Given the description of an element on the screen output the (x, y) to click on. 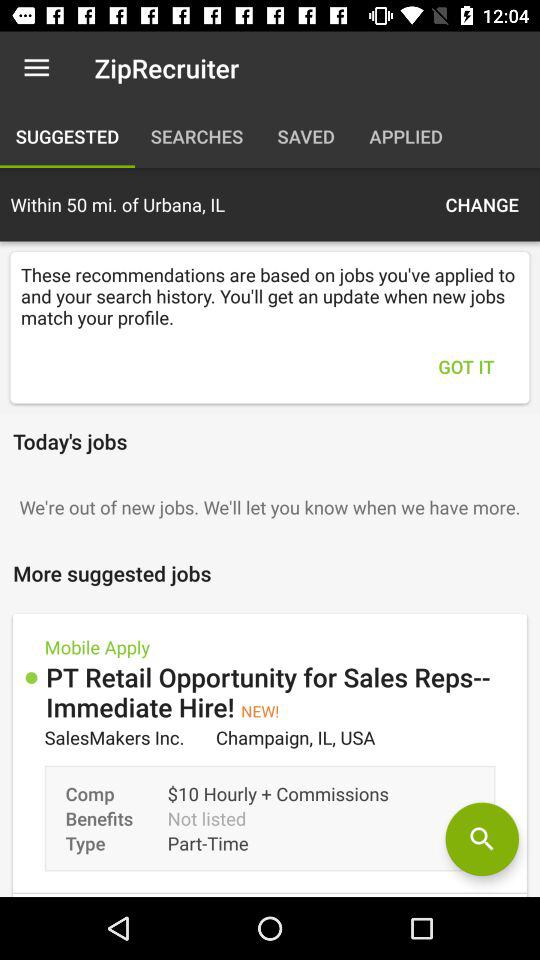
launch icon to the right of the within 50 mi (482, 204)
